Given the description of an element on the screen output the (x, y) to click on. 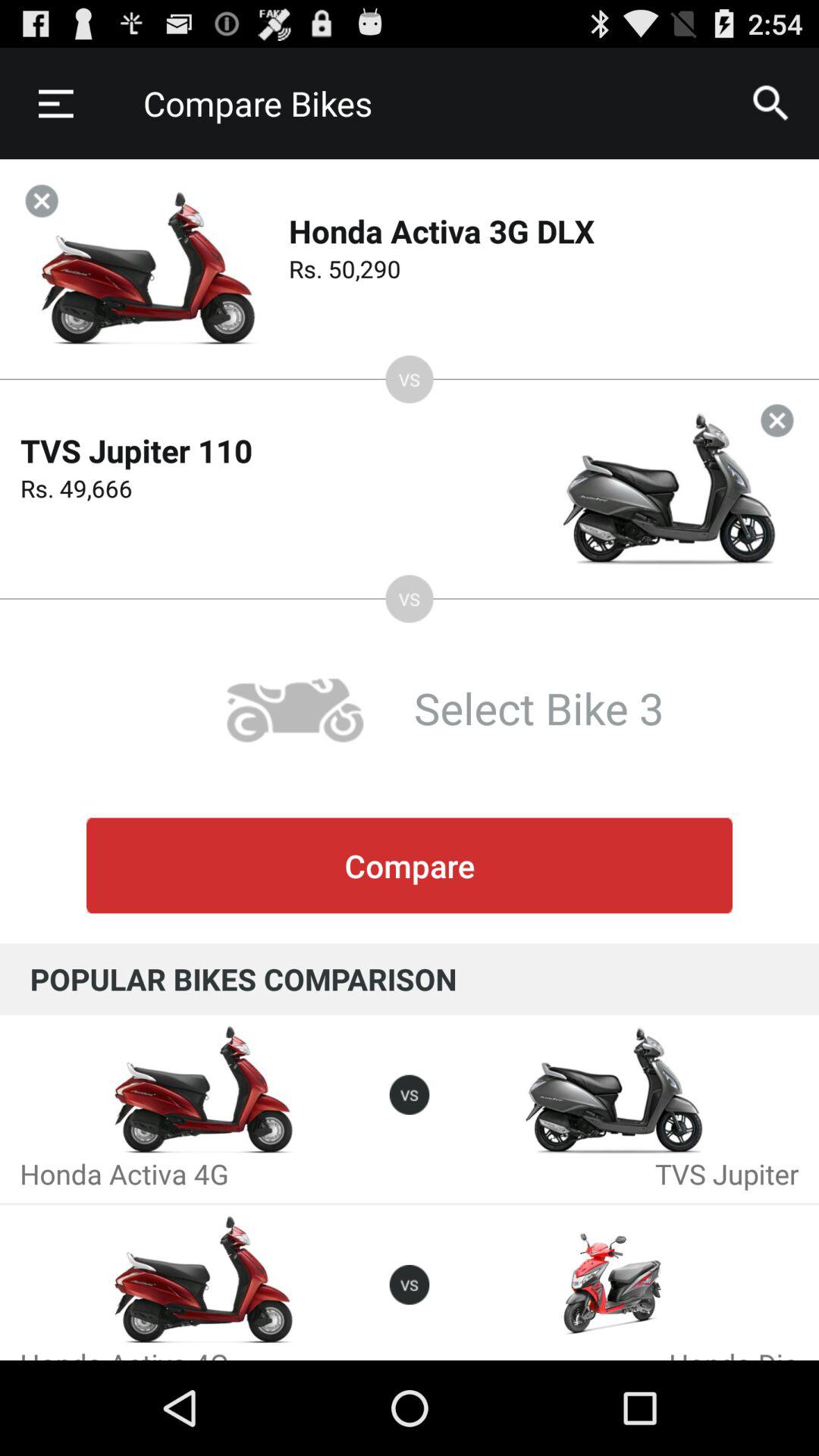
choose icon next to compare bikes item (55, 103)
